Given the description of an element on the screen output the (x, y) to click on. 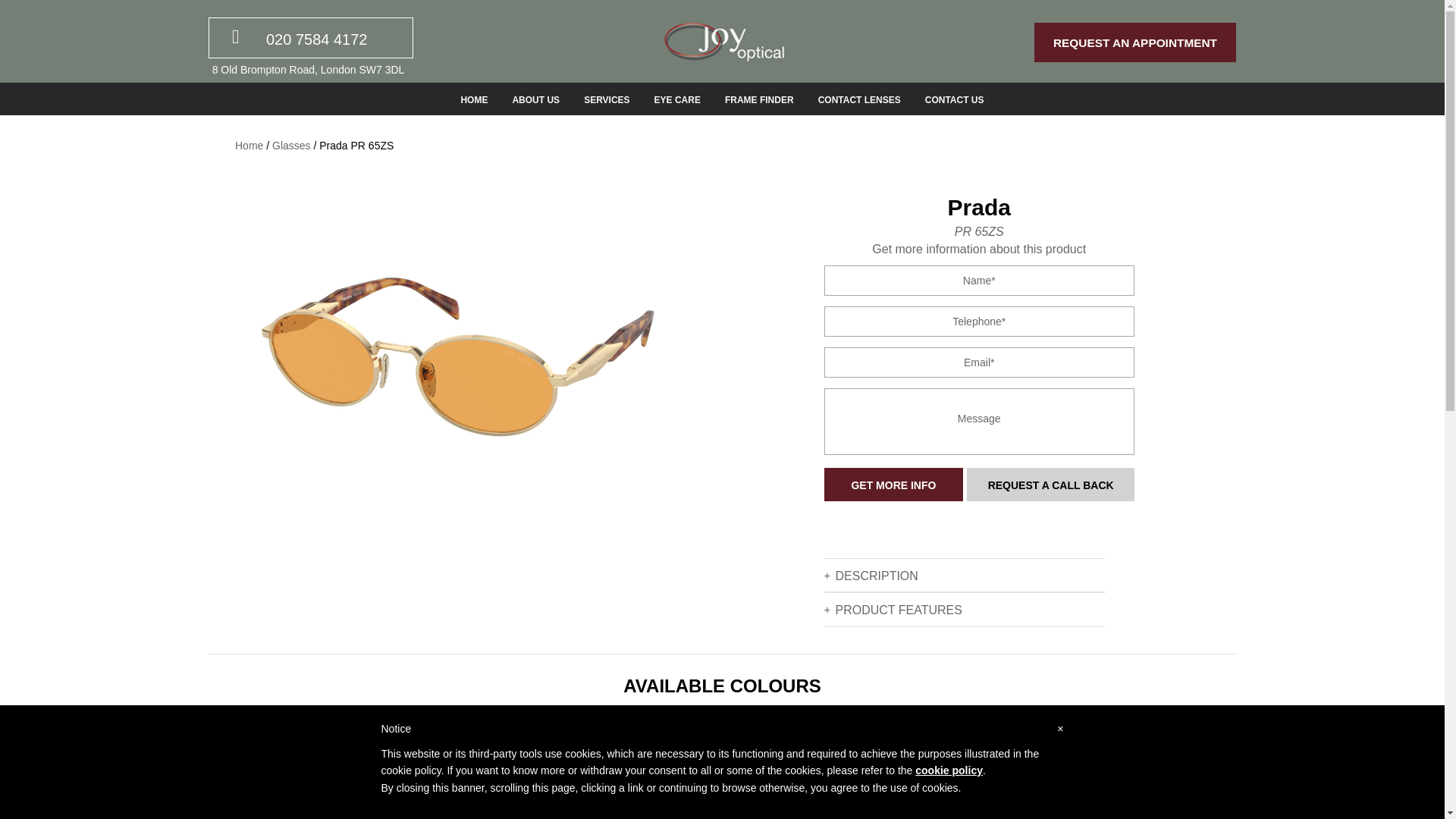
REQUEST A CALL BACK (1050, 484)
FRAME FINDER (759, 98)
ABOUT US (535, 98)
Glasses (291, 145)
EYE CARE (677, 98)
020 7584 4172 (316, 39)
REQUEST A CALL BACK (1050, 484)
Prada  PR 65ZS (465, 358)
CONTACT US (955, 98)
CONTACT LENSES (858, 98)
logo-footer (721, 41)
GET MORE INFO (893, 484)
GET MORE INFO (893, 484)
HOME (473, 98)
SERVICES (605, 98)
